Given the description of an element on the screen output the (x, y) to click on. 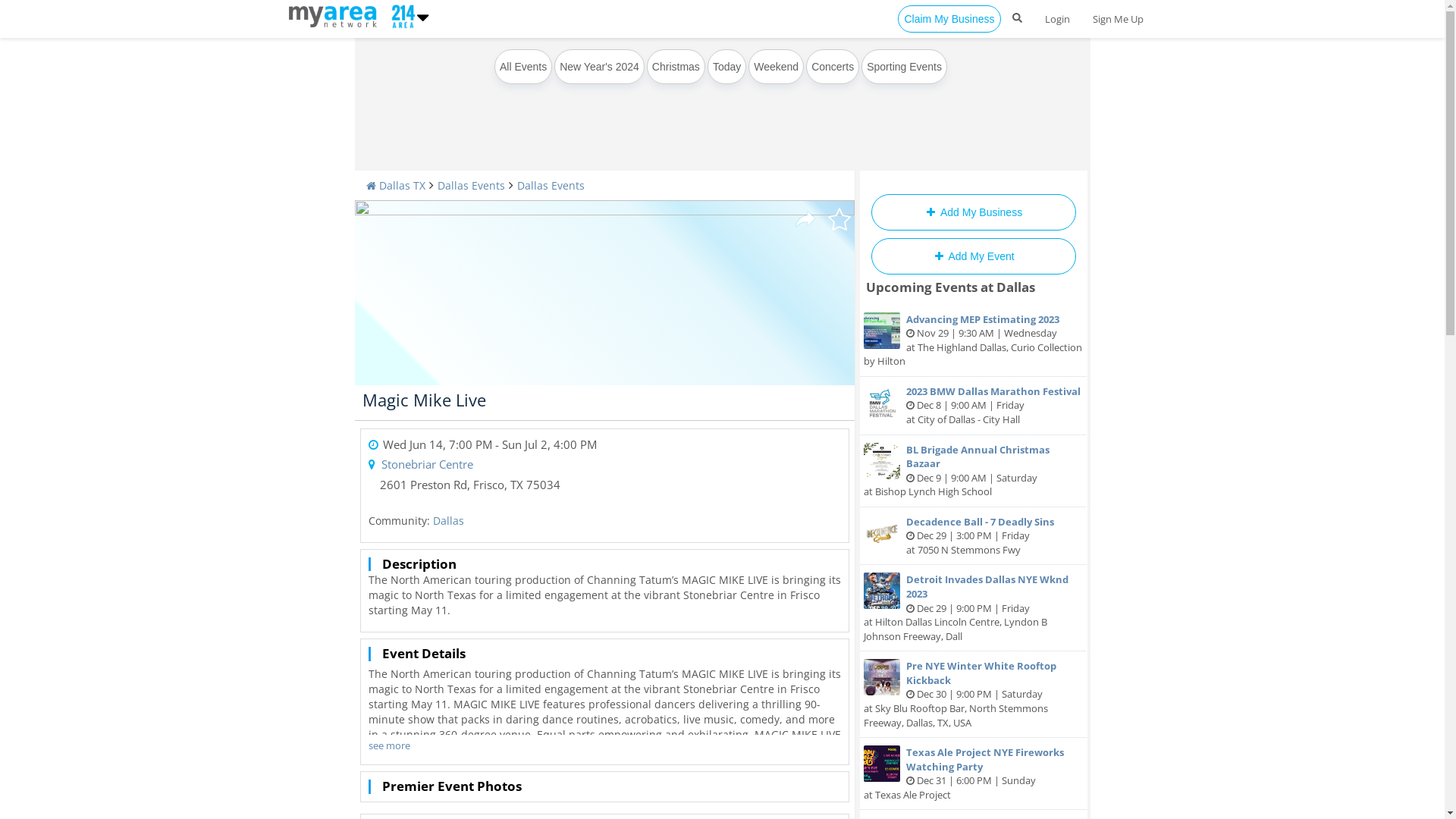
Weekend Element type: text (775, 66)
Upcoming Events at Dallas Element type: text (950, 286)
https://www.214area.com Element type: hover (335, 15)
Login Element type: text (1056, 18)
Today Element type: text (726, 66)
Claim My Business Element type: text (948, 18)
Christmas Element type: text (675, 66)
Dallas TX Element type: text (394, 185)
Stonebriar Centre Element type: text (426, 463)
Magic Mike Live Element type: text (424, 399)
Sporting Events Element type: text (904, 66)
Dallas Events Element type: text (470, 185)
Dallas Events Element type: text (550, 185)
Sign Me Up Element type: text (1117, 18)
Add My Business Element type: text (972, 212)
All Events Element type: text (523, 66)
Add My Event Element type: text (972, 256)
https://www.214area.com Element type: hover (400, 15)
New Year's 2024 Element type: text (599, 66)
see more Element type: text (389, 745)
Concerts Element type: text (832, 66)
Dallas Element type: text (447, 520)
